Given the description of an element on the screen output the (x, y) to click on. 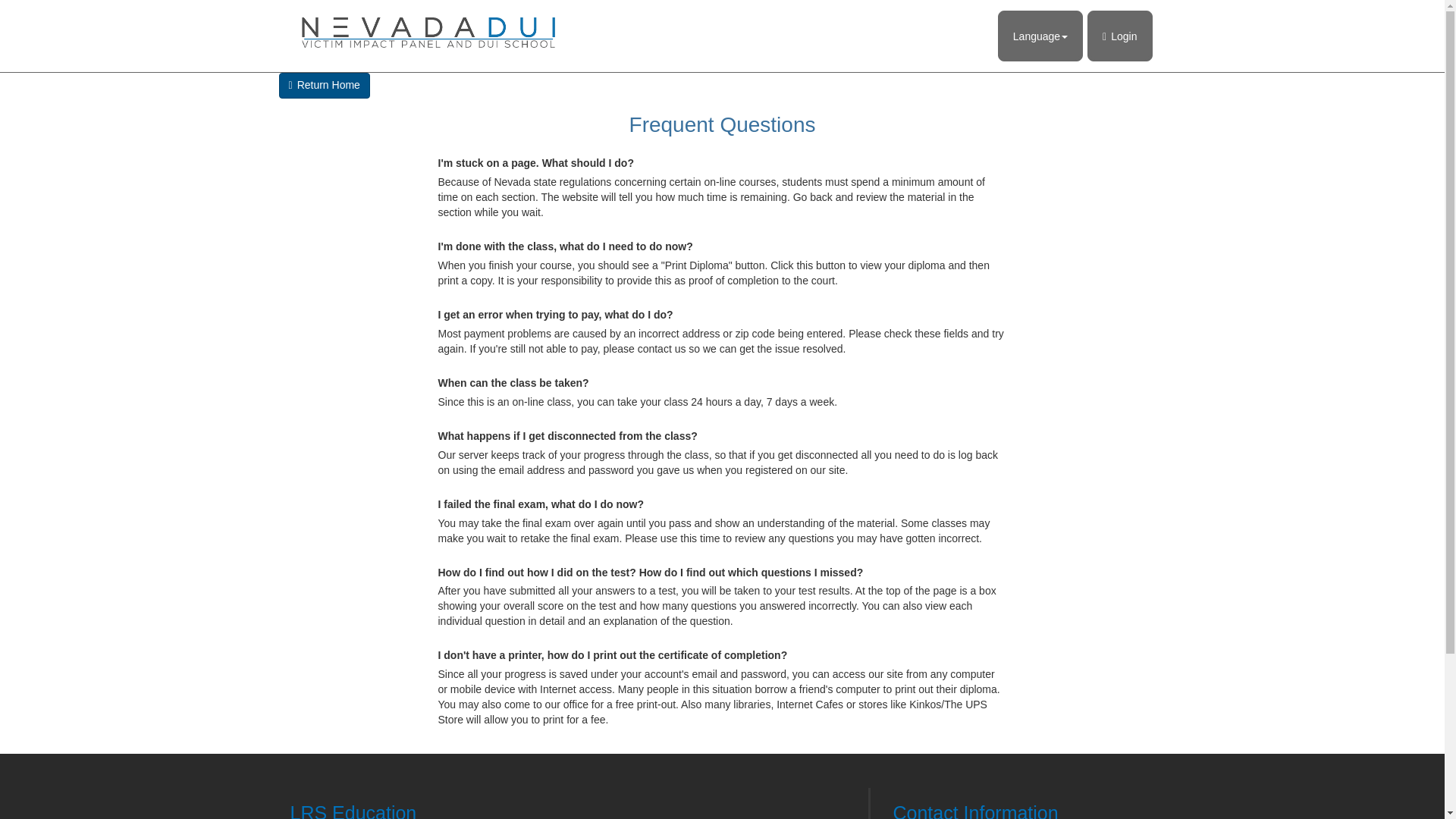
Language (1039, 35)
Return Home (324, 85)
Login (1119, 35)
